Given the description of an element on the screen output the (x, y) to click on. 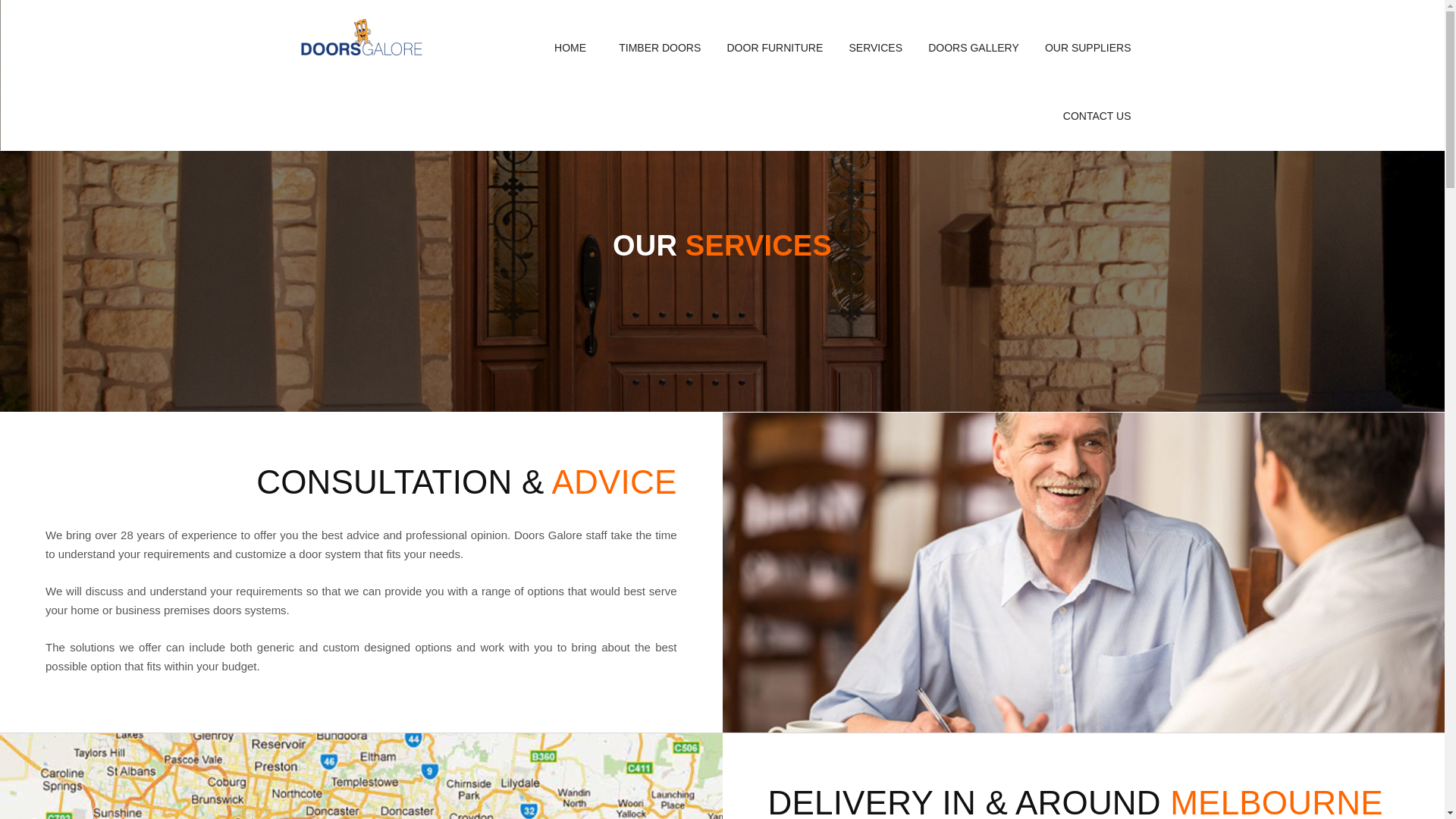
OUR SUPPLIERS Element type: text (1087, 47)
TIMBER DOORS Element type: text (659, 47)
SERVICES Element type: text (875, 47)
CONTACT US Element type: text (1096, 115)
SIGN IN Element type: text (712, 228)
DOOR FURNITURE Element type: text (774, 47)
HOME Element type: text (570, 47)
DOORS GALLERY Element type: text (973, 47)
